Given the description of an element on the screen output the (x, y) to click on. 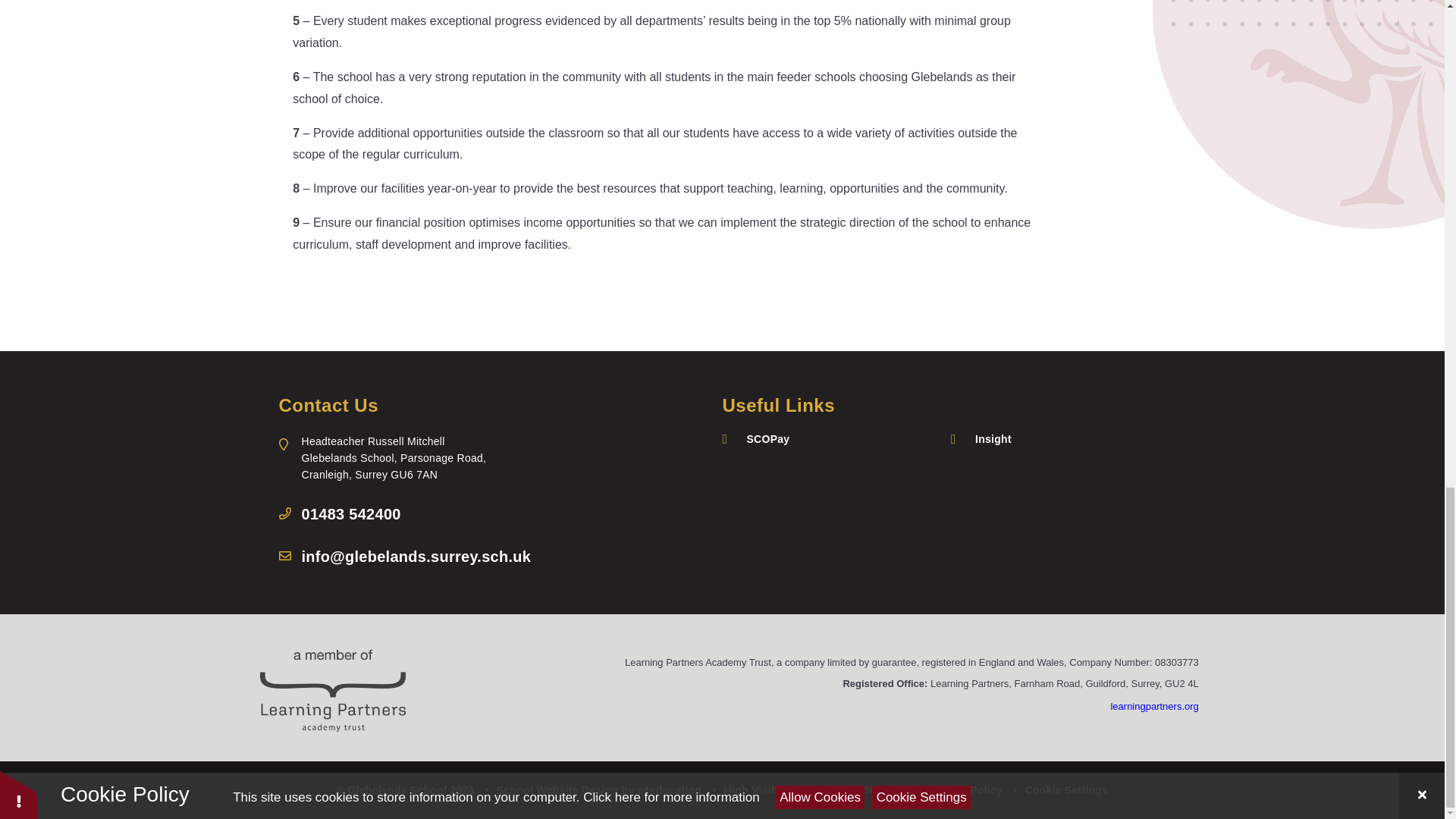
Cookie Settings (1066, 789)
